Given the description of an element on the screen output the (x, y) to click on. 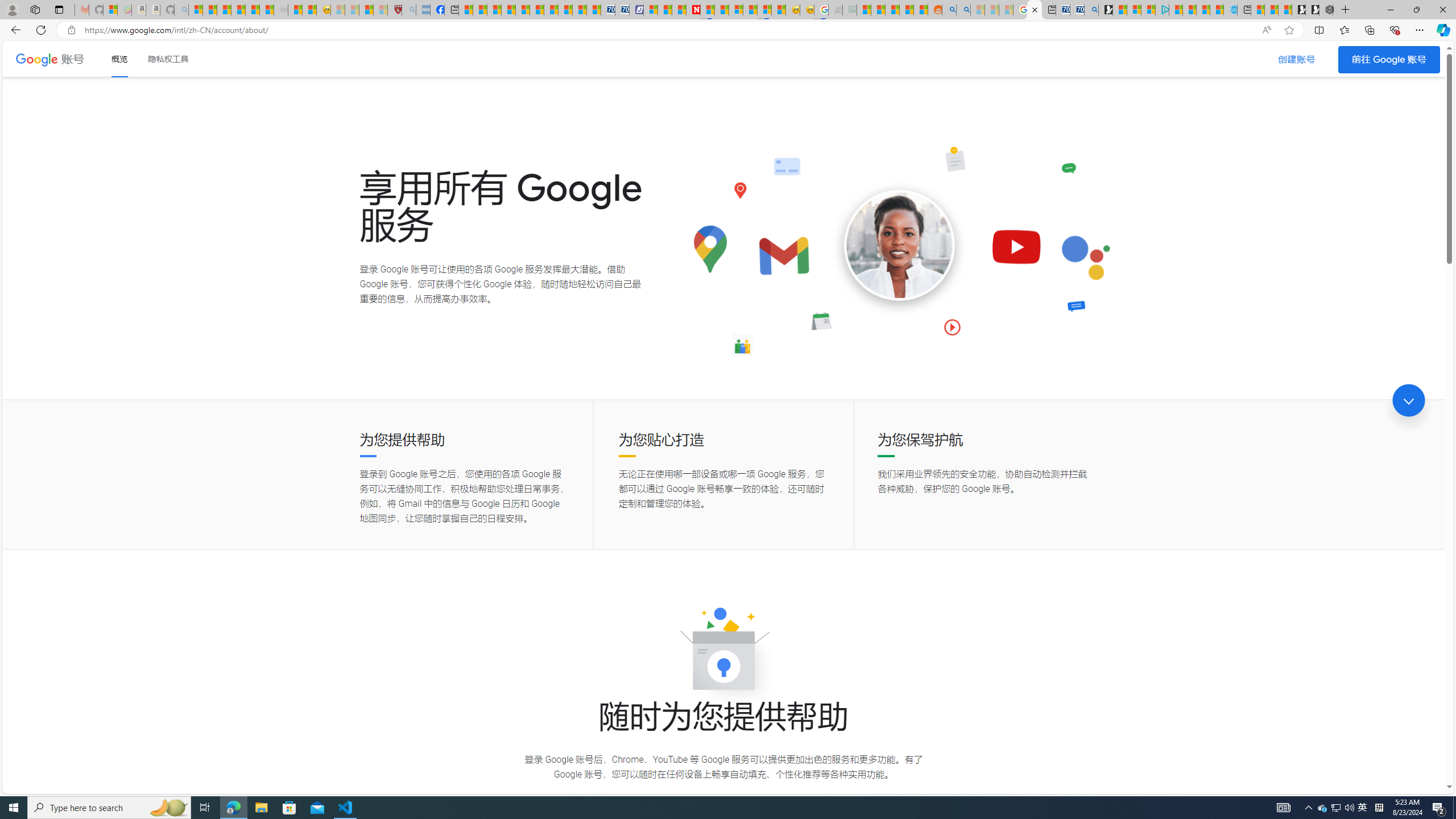
12 Popular Science Lies that Must be Corrected - Sleeping (380, 9)
Climate Damage Becomes Too Severe To Reverse (507, 9)
